Given the description of an element on the screen output the (x, y) to click on. 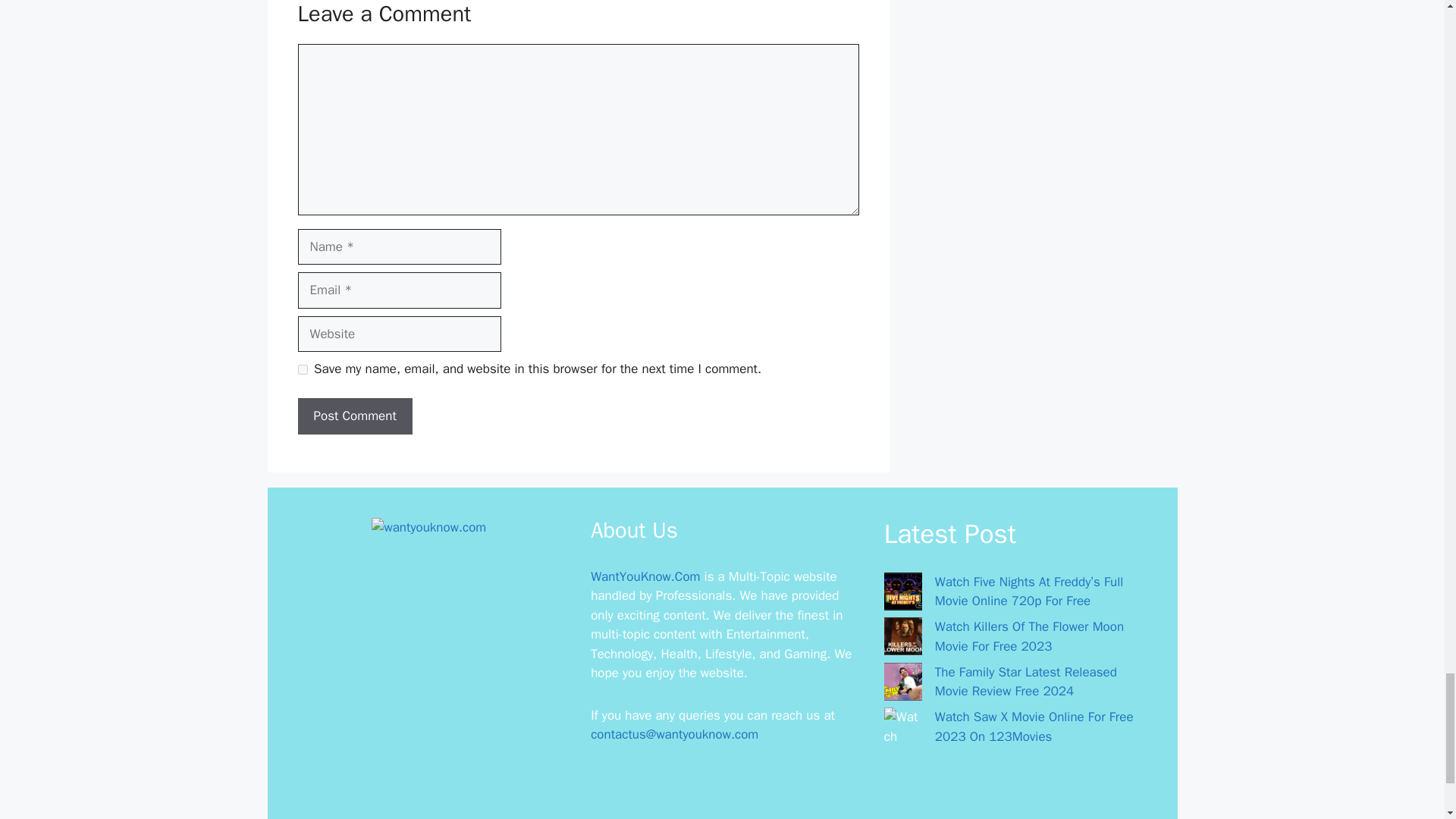
Post Comment (354, 416)
Post Comment (354, 416)
WantYouKnow.Com (645, 576)
yes (302, 369)
